Given the description of an element on the screen output the (x, y) to click on. 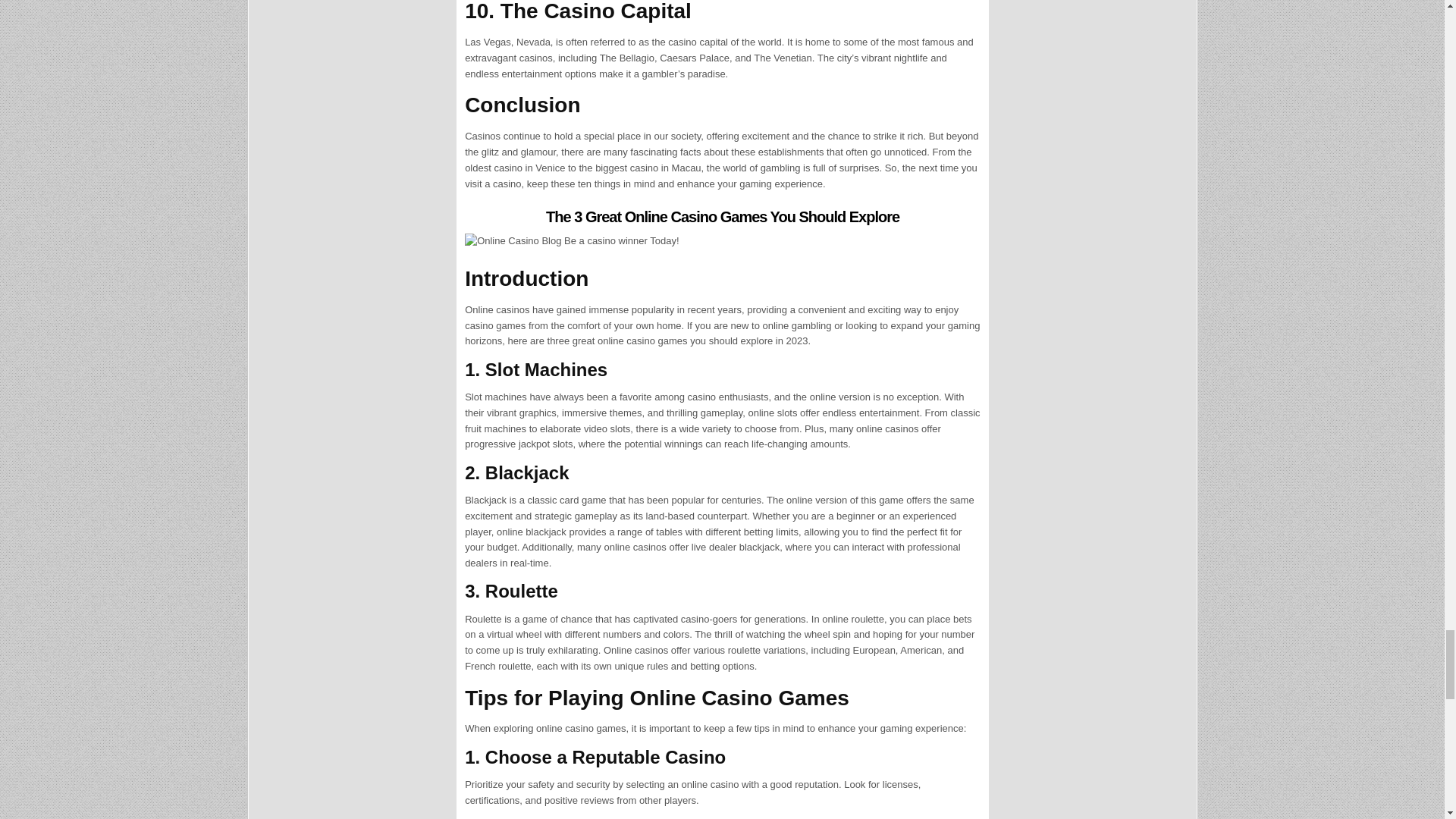
The 3 Great Online Casino Games You Should Explore (722, 216)
